Given the description of an element on the screen output the (x, y) to click on. 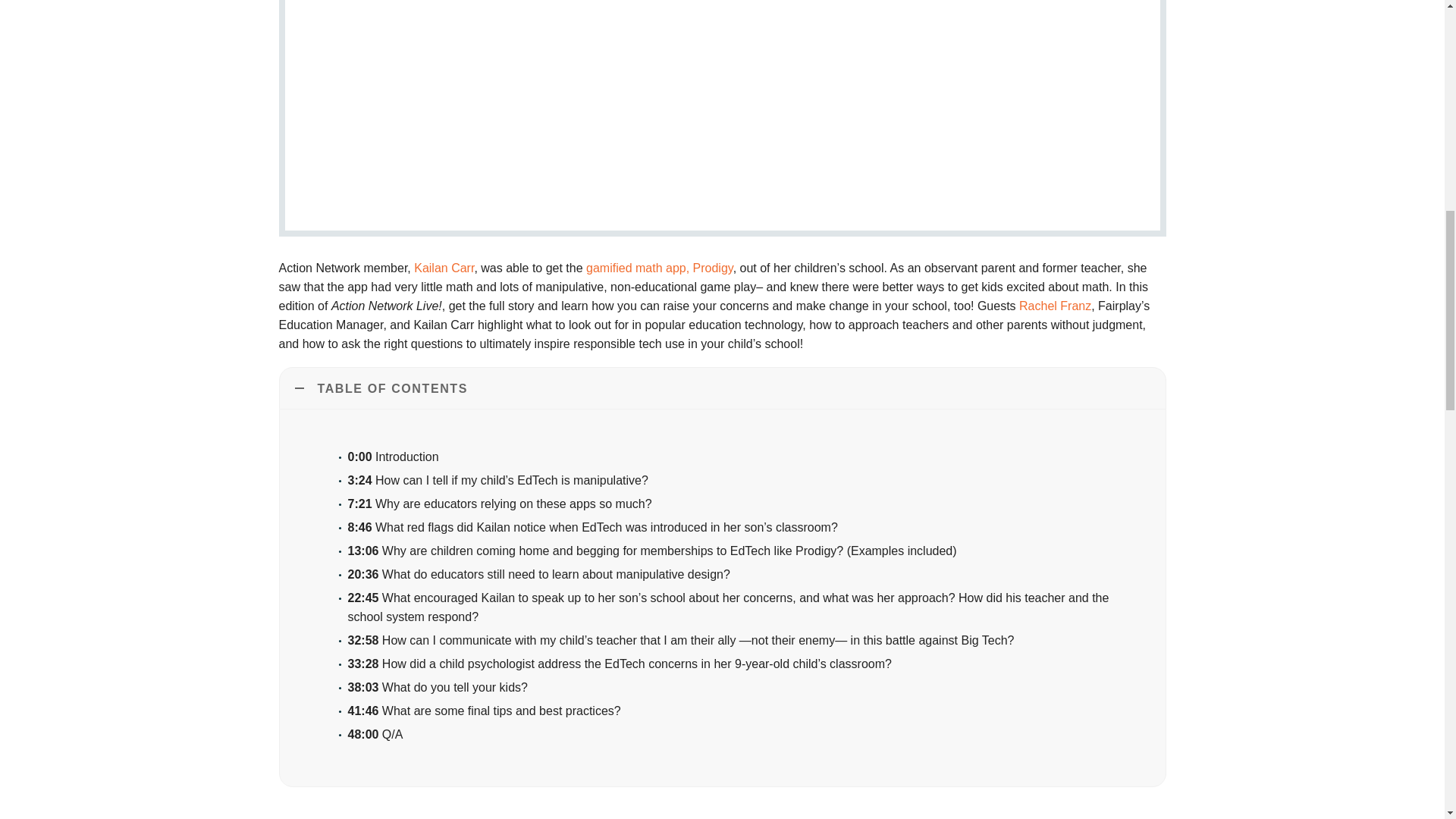
Kailan Carr (443, 267)
TABLE OF CONTENTS (721, 387)
Rachel Franz (1054, 305)
gamified math app, Prodigy (659, 267)
